Given the description of an element on the screen output the (x, y) to click on. 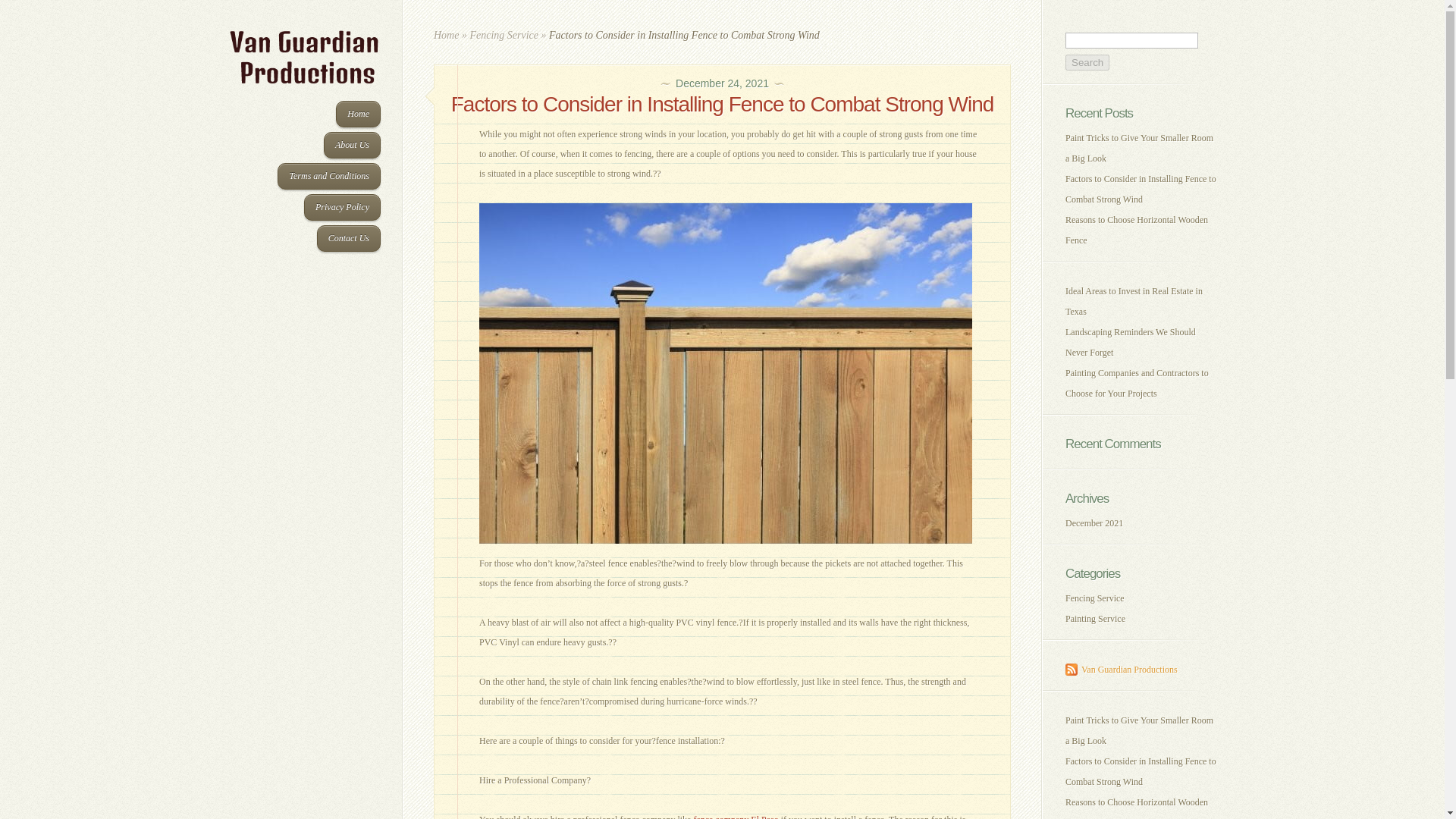
Terms and Conditions (329, 175)
Fencing Service (1094, 597)
fence company El Paso (735, 816)
Privacy Policy (342, 207)
Reasons to Choose Horizontal Wooden Fence (1136, 229)
Ideal Areas to Invest in Real Estate in Texas (1133, 300)
Home (445, 34)
Home (358, 113)
About Us (351, 144)
December 2021 (1093, 522)
Fencing Service (503, 34)
Landscaping Reminders We Should Never Forget (1130, 341)
